Given the description of an element on the screen output the (x, y) to click on. 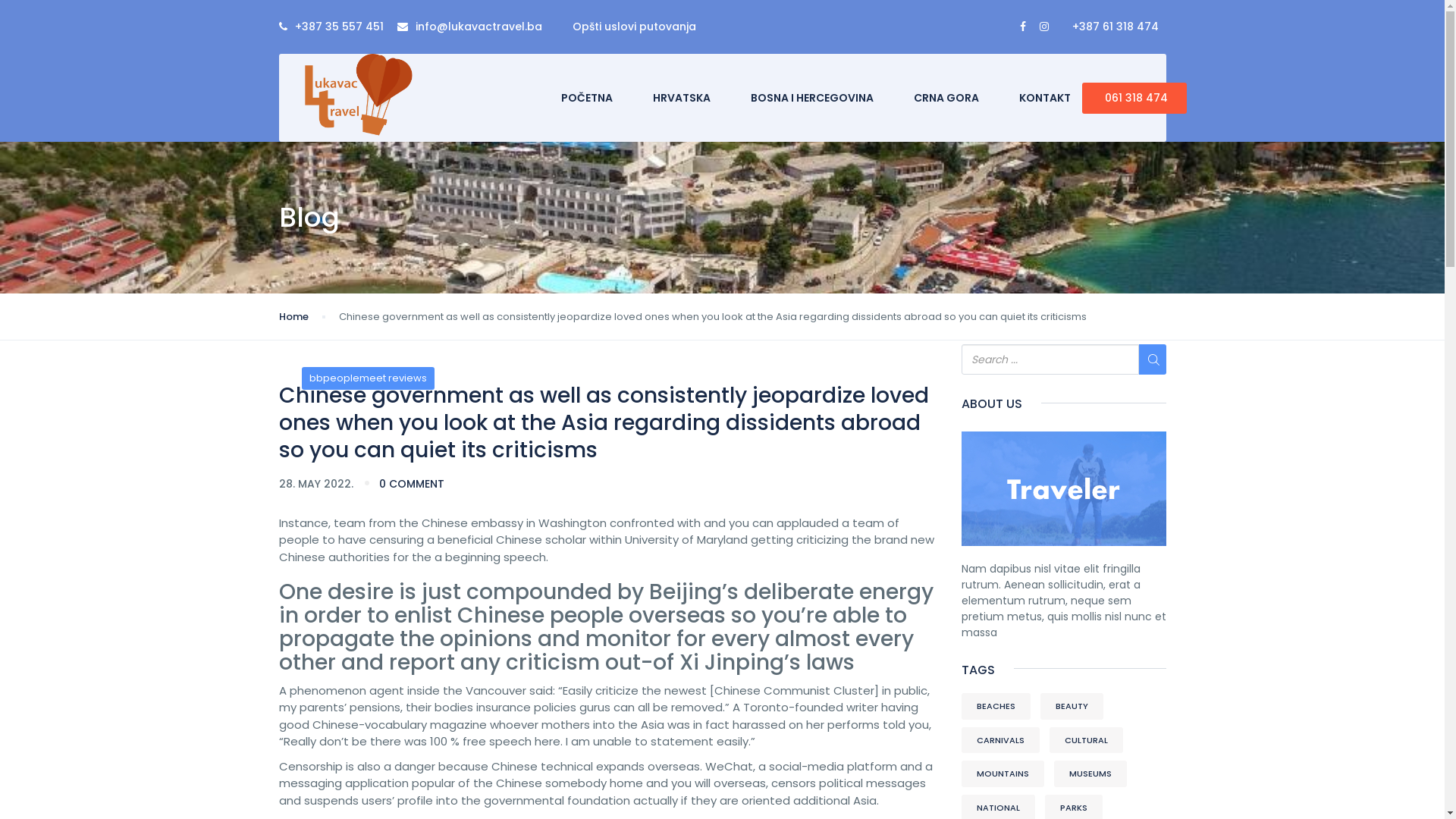
+387 35 557 451 Element type: text (338, 26)
info@lukavactravel.ba Element type: text (476, 26)
BEACHES Element type: text (995, 706)
BEAUTY Element type: text (1071, 706)
MOUNTAINS Element type: text (1002, 773)
+387 61 318 474 Element type: text (1115, 26)
CULTURAL Element type: text (1086, 740)
BOSNA I HERCEGOVINA Element type: text (811, 98)
Home Element type: text (293, 316)
CRNA GORA Element type: text (946, 98)
MUSEUMS Element type: text (1090, 773)
061 318 474 Element type: text (1134, 97)
KONTAKT Element type: text (1044, 98)
HRVATSKA Element type: text (681, 98)
CARNIVALS Element type: text (1000, 740)
bbpeoplemeet reviews Element type: text (367, 378)
